Given the description of an element on the screen output the (x, y) to click on. 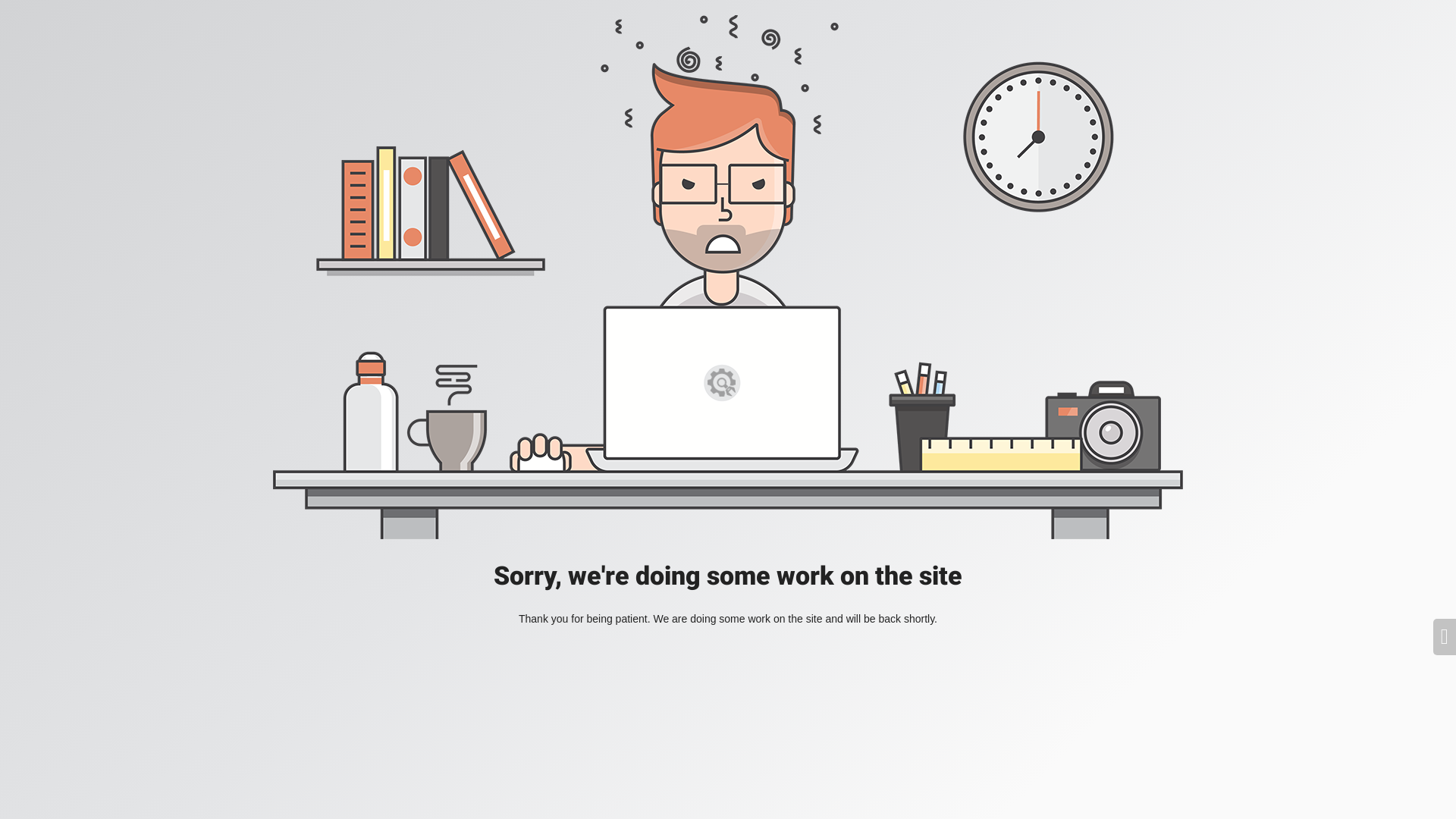
Mad Designer at work Element type: hover (728, 277)
